Given the description of an element on the screen output the (x, y) to click on. 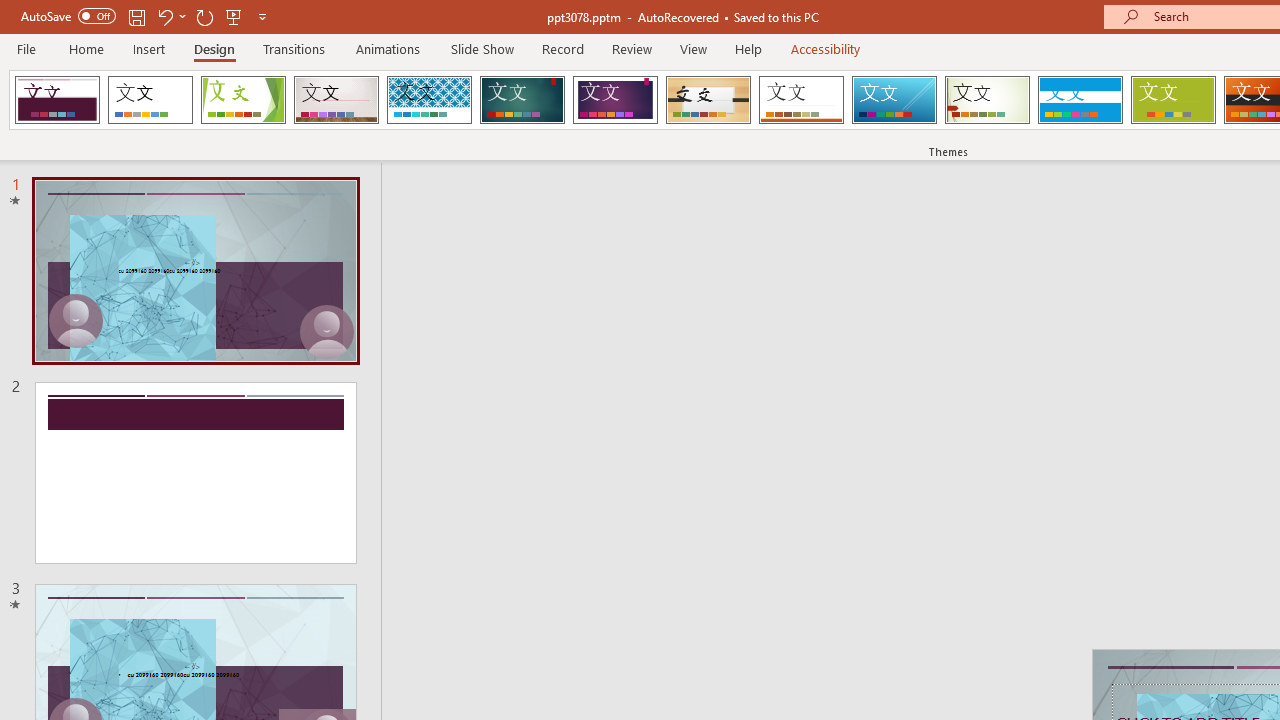
Slide (195, 473)
Integral (429, 100)
Office Theme (150, 100)
Retrospect (801, 100)
Berlin (57, 100)
Record (562, 48)
AutoSave (68, 16)
Design (214, 48)
Transitions (294, 48)
Customize Quick Access Toolbar (262, 15)
System (10, 11)
Review (631, 48)
Undo (164, 15)
Ion (522, 100)
